Given the description of an element on the screen output the (x, y) to click on. 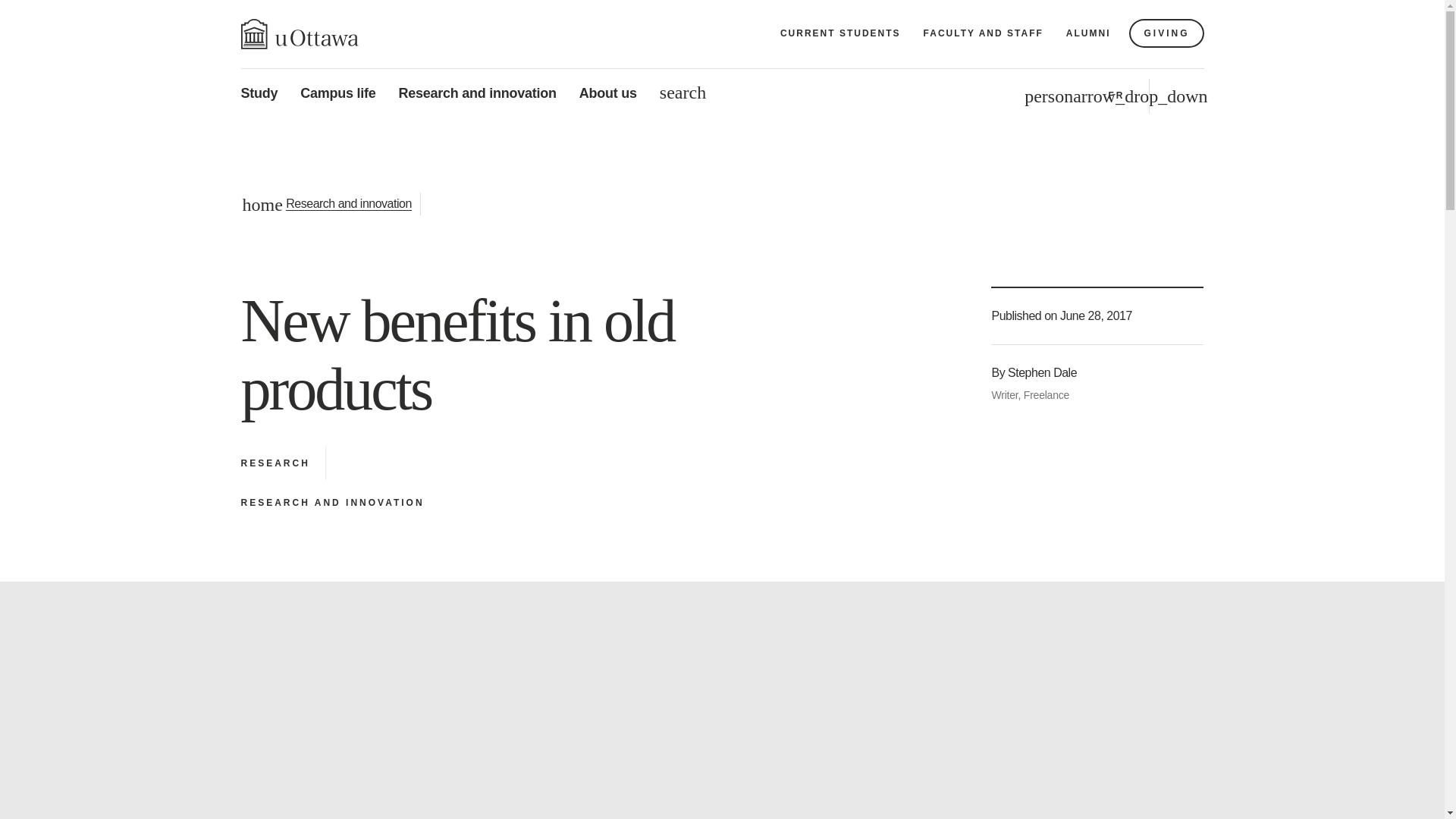
GIVING (1166, 32)
CURRENT STUDENTS (840, 33)
ALUMNI (1088, 33)
FACULTY AND STAFF (983, 33)
